Given the description of an element on the screen output the (x, y) to click on. 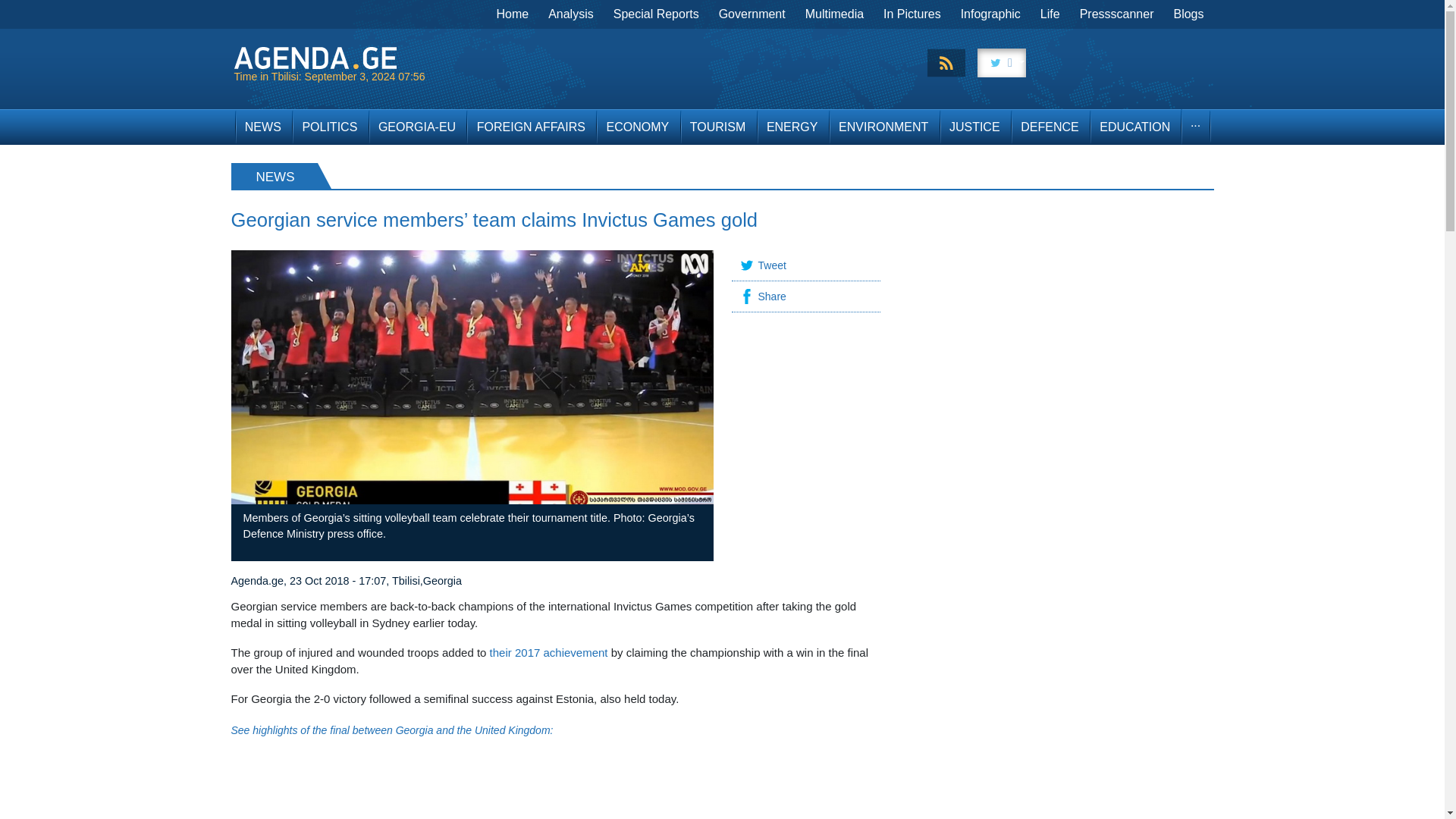
Analysis (571, 14)
Pressscanner (1116, 14)
Life (1050, 14)
NEWS (262, 126)
Multimedia (833, 14)
Special Reports (656, 14)
Infographic (990, 14)
Home (512, 14)
Blogs (1187, 14)
In Pictures (911, 14)
